Given the description of an element on the screen output the (x, y) to click on. 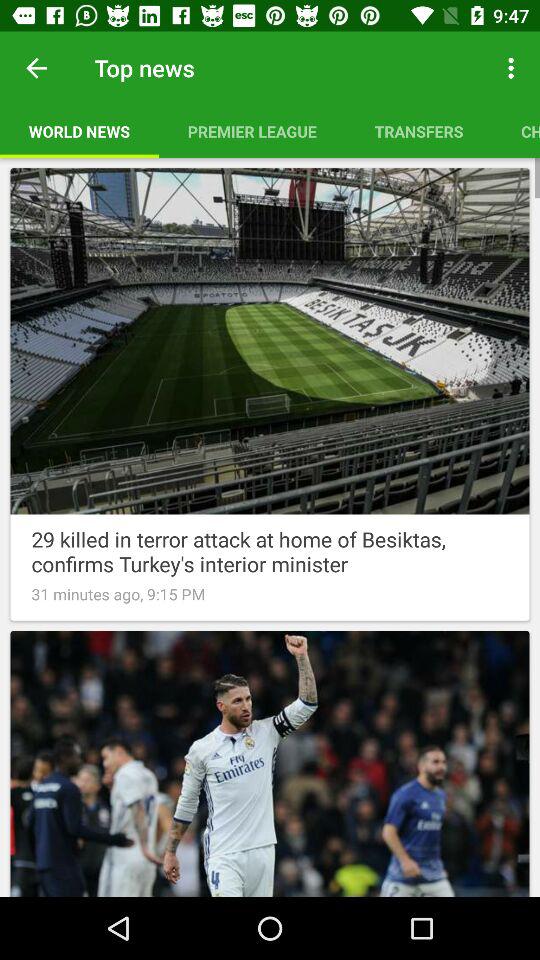
press icon below the top news (251, 131)
